Given the description of an element on the screen output the (x, y) to click on. 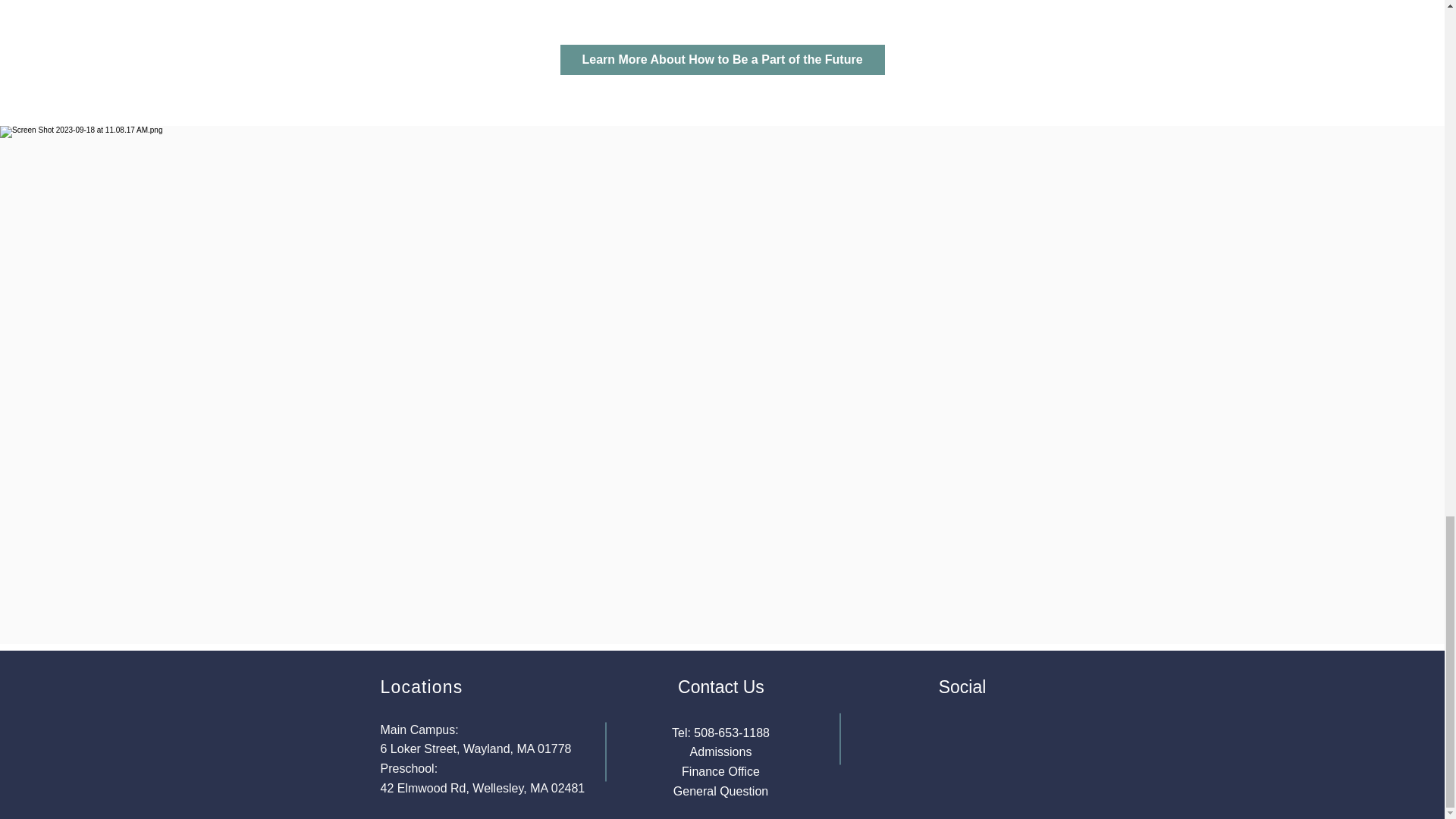
Admissions (721, 751)
508-653-1188 (732, 732)
General Question (720, 790)
Finance Office (720, 771)
Learn More About How to Be a Part of the Future (721, 60)
